Given the description of an element on the screen output the (x, y) to click on. 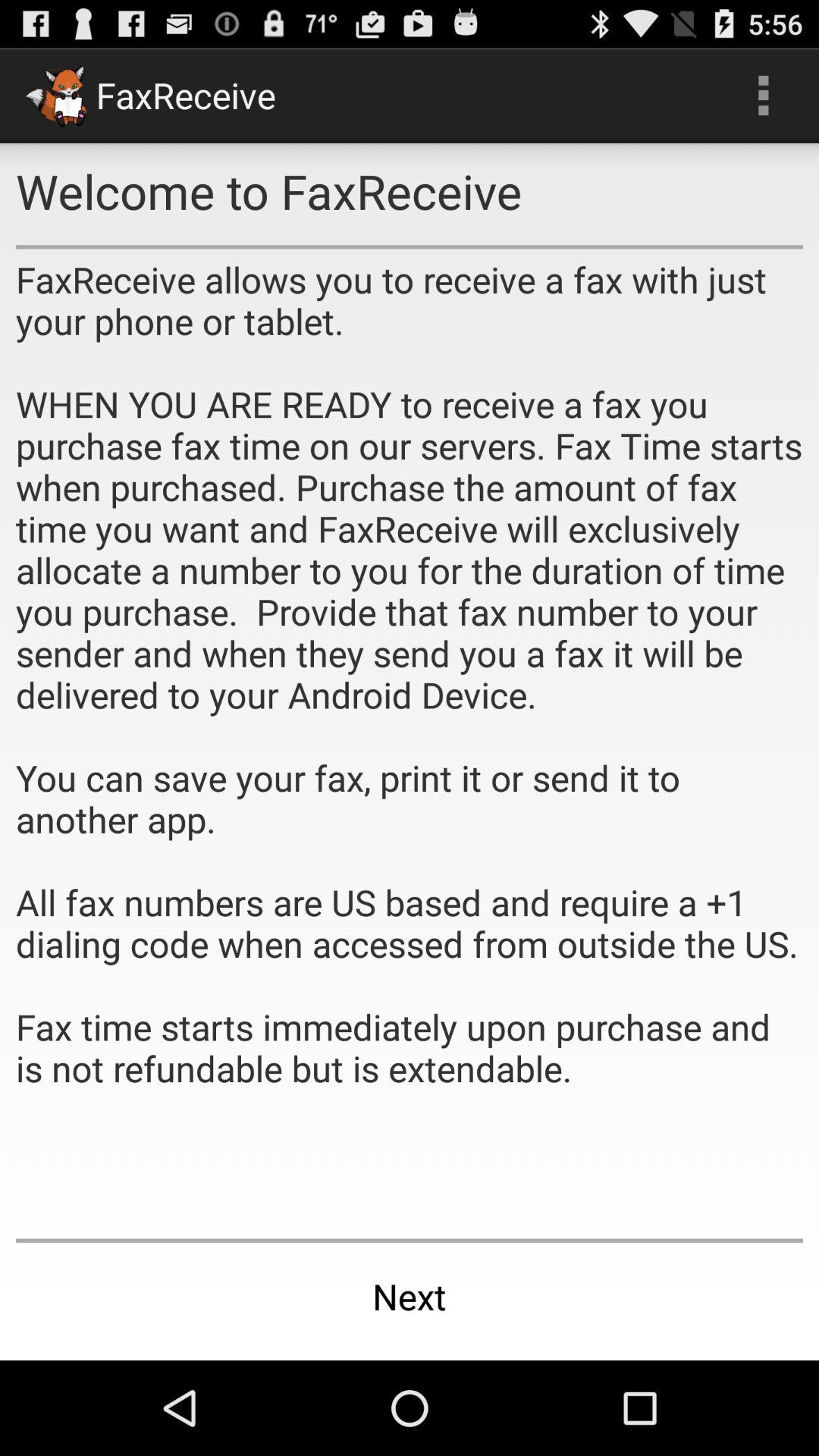
scroll to next icon (409, 1296)
